Given the description of an element on the screen output the (x, y) to click on. 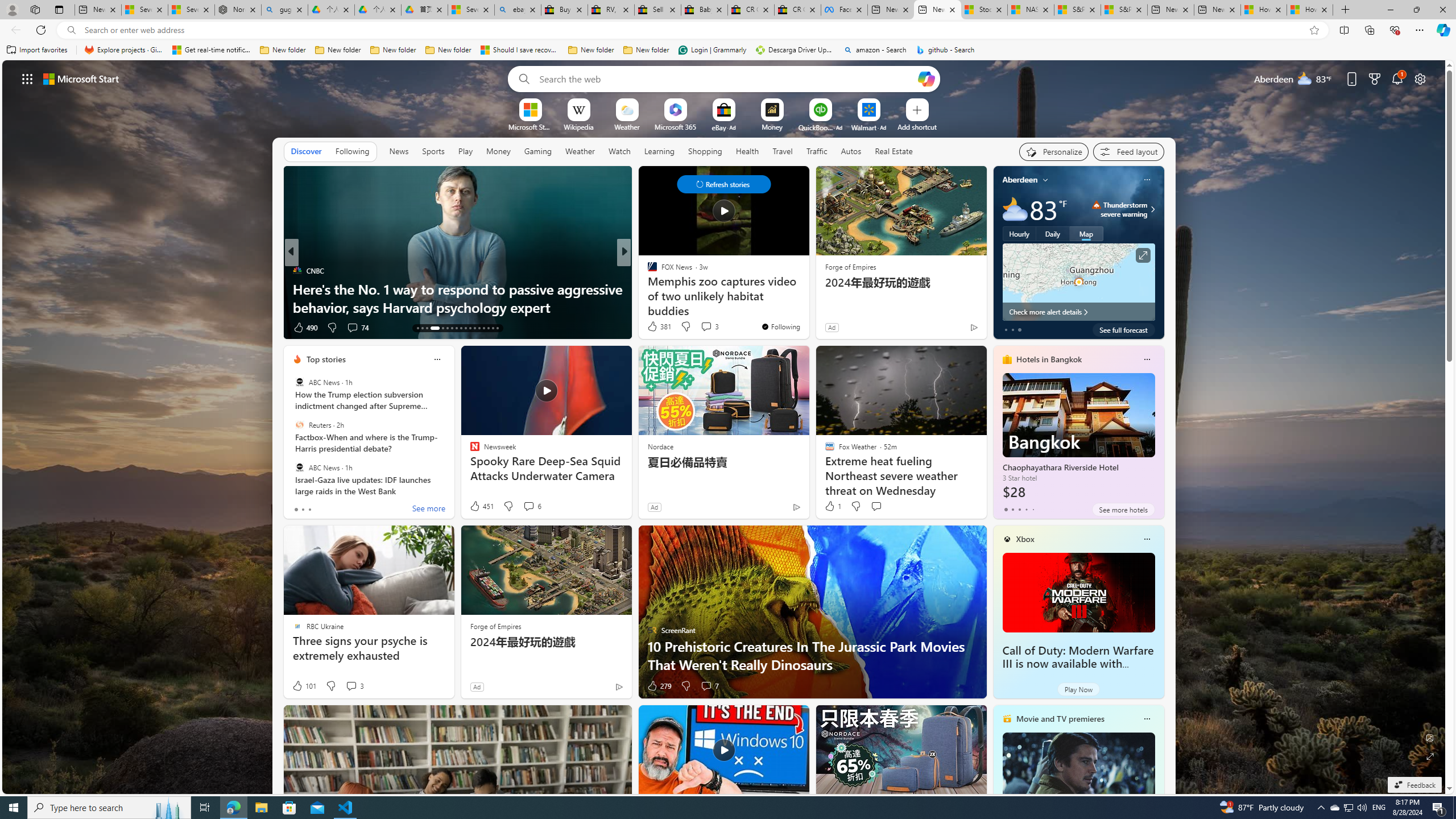
View comments 100 Comment (705, 327)
View comments 3 Comment (350, 685)
Favorites bar (728, 49)
Mostly cloudy (1014, 208)
How to Use a Monitor With Your Closed Laptop (807, 307)
20 Like (652, 327)
Wikipedia (578, 126)
Top stories (325, 359)
AutomationID: tab-13 (417, 328)
View comments 2 Comment (698, 327)
Sports (432, 151)
